Given the description of an element on the screen output the (x, y) to click on. 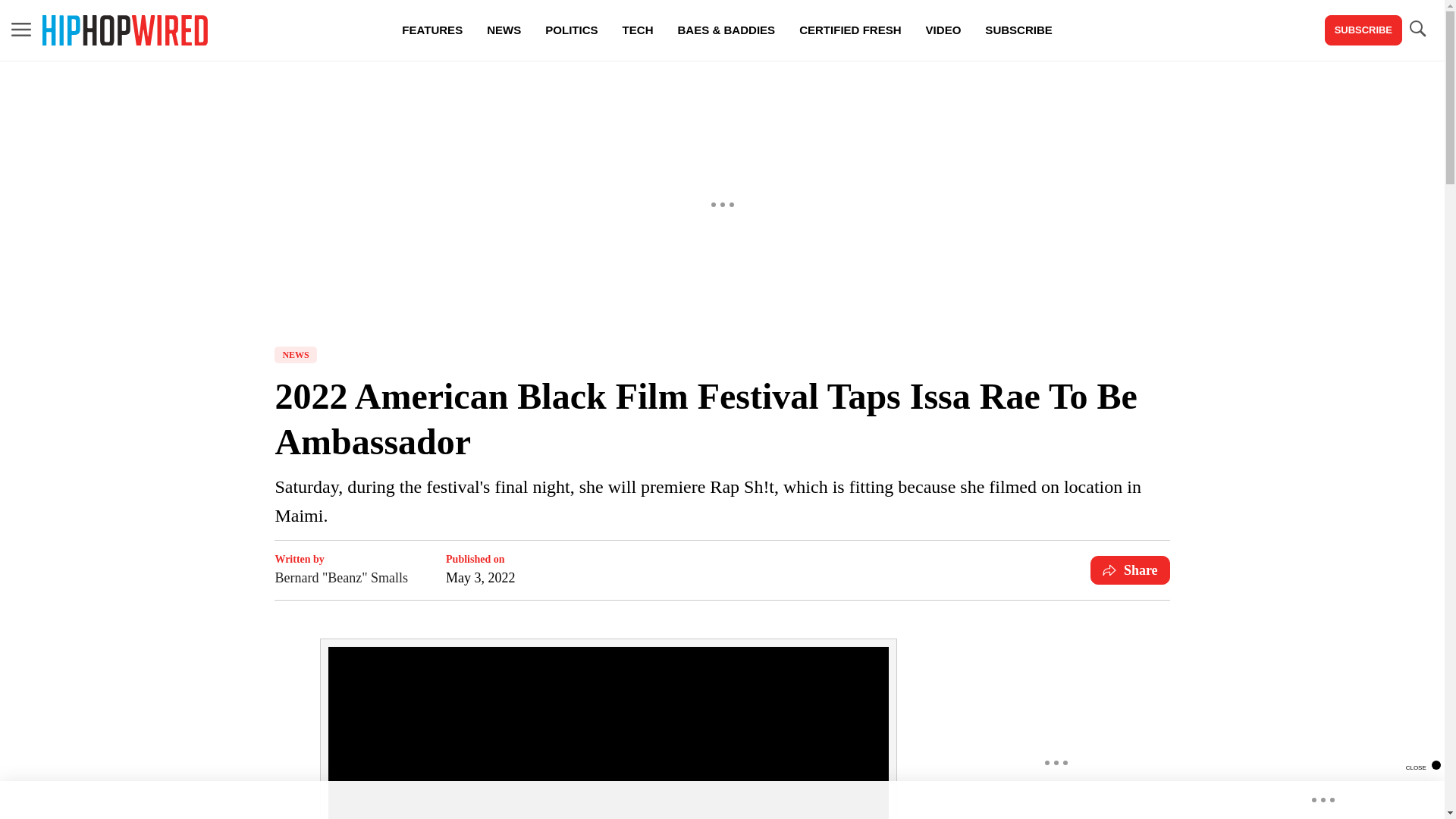
NEWS (295, 354)
TOGGLE SEARCH (1417, 30)
Share (1130, 570)
SUBSCRIBE (1018, 30)
MENU (20, 29)
VIDEO (944, 30)
TOGGLE SEARCH (1417, 28)
MENU (20, 30)
NEWS (503, 30)
FEATURES (432, 30)
SUBSCRIBE (1363, 30)
TECH (637, 30)
POLITICS (571, 30)
Bernard "Beanz" Smalls (341, 577)
CERTIFIED FRESH (849, 30)
